Given the description of an element on the screen output the (x, y) to click on. 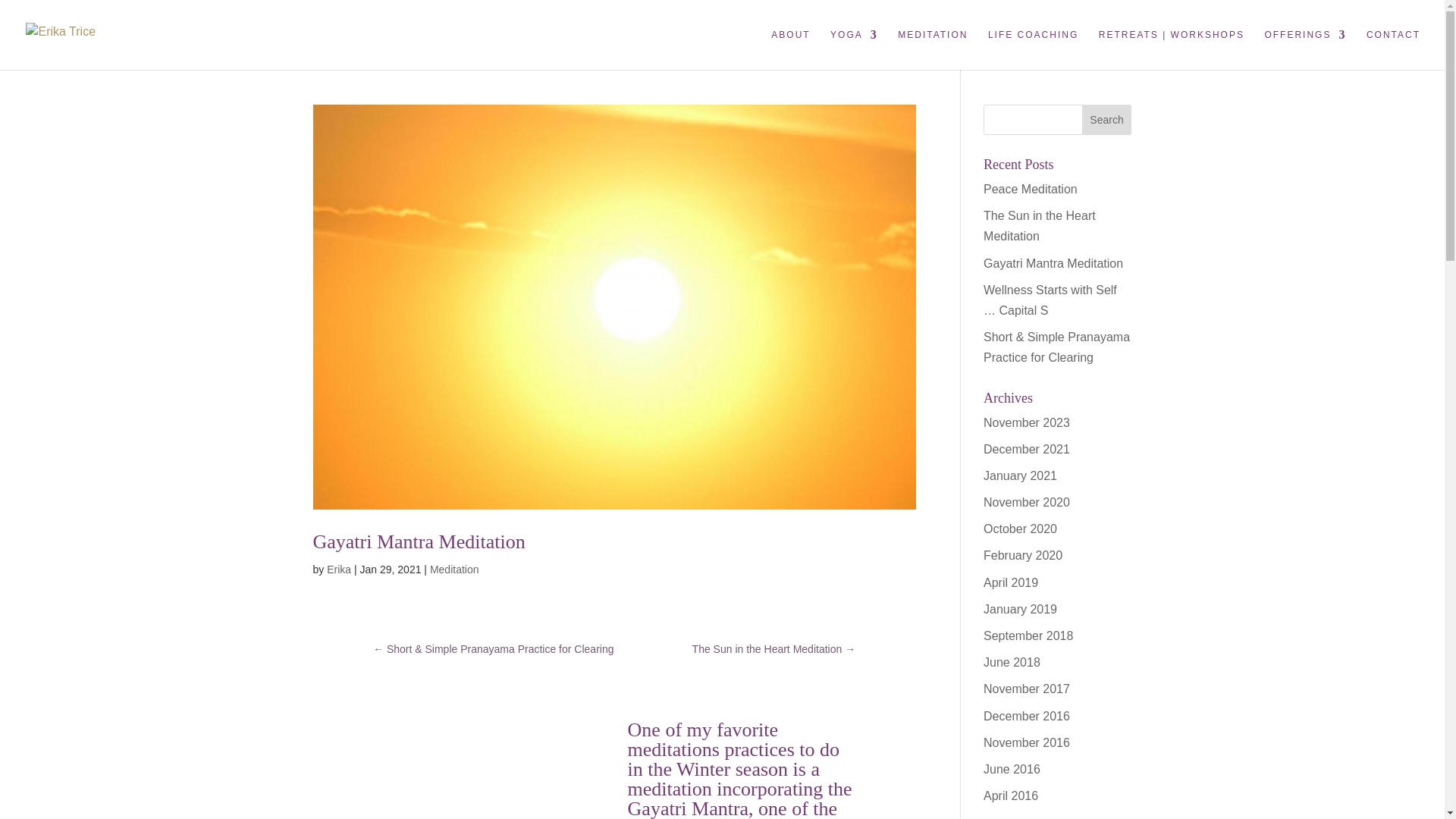
Gayatri Mantra Meditation (418, 541)
January 2019 (1020, 608)
Peace Meditation (1030, 188)
CONTACT (1394, 49)
OFFERINGS (1304, 49)
LIFE COACHING (1033, 49)
Search (1106, 119)
April 2019 (1011, 582)
The Sun in the Heart Meditation (1040, 225)
February 2020 (1023, 554)
December 2021 (1027, 449)
November 2020 (1027, 502)
Posts by Erika (338, 569)
September 2018 (1028, 635)
November 2023 (1027, 421)
